Given the description of an element on the screen output the (x, y) to click on. 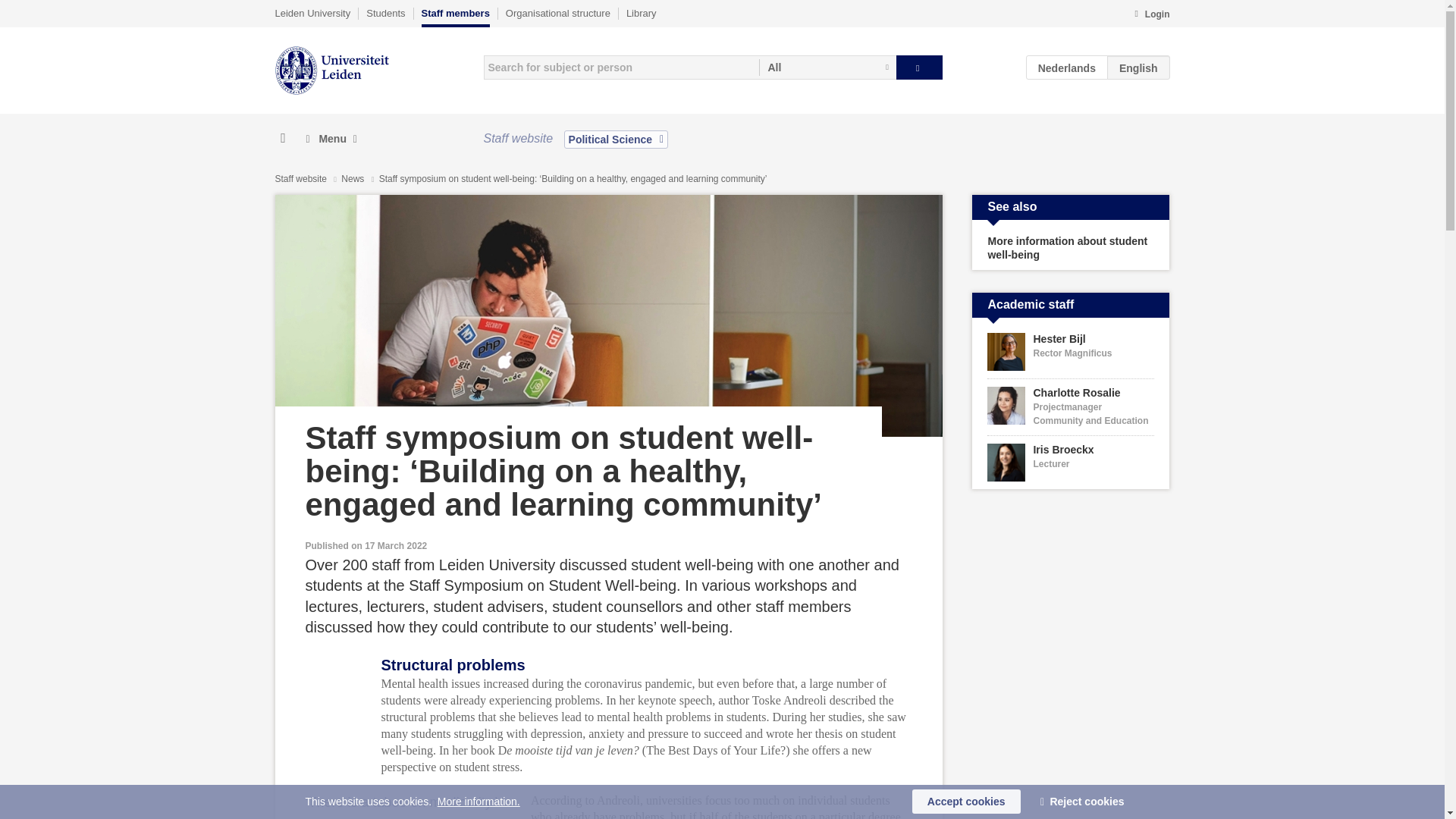
Political Science (616, 139)
Login (1151, 14)
NL (1067, 67)
Library (641, 13)
Organisational structure (557, 13)
Menu (330, 139)
All (827, 67)
Leiden University (312, 13)
Staff members (455, 17)
Search (919, 67)
Students (385, 13)
